Given the description of an element on the screen output the (x, y) to click on. 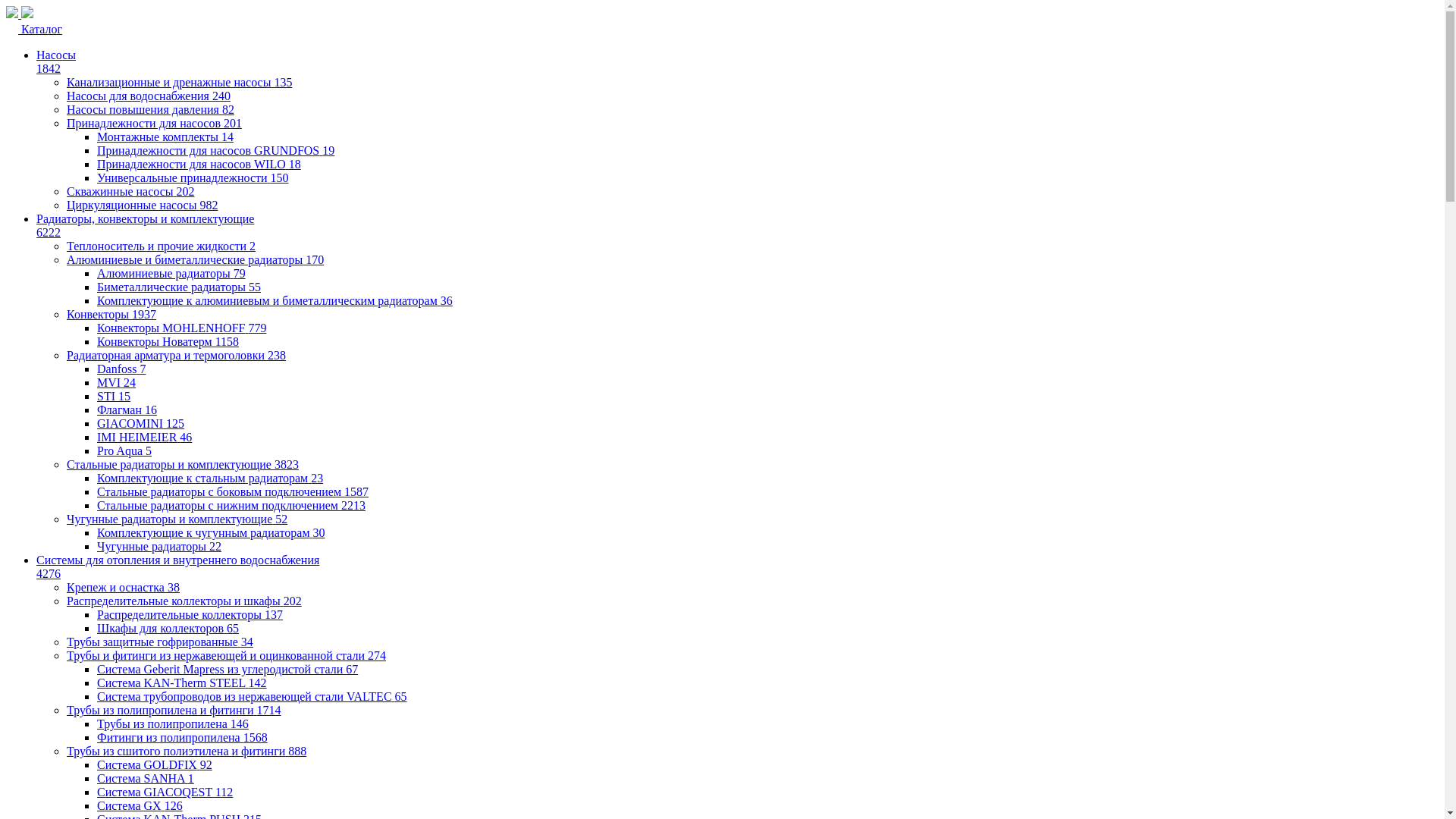
Pro Aqua 5 Element type: text (124, 450)
Danfoss 7 Element type: text (121, 368)
STI 15 Element type: text (113, 395)
MVI 24 Element type: text (116, 382)
IMI HEIMEIER 46 Element type: text (144, 436)
GIACOMINI 125 Element type: text (140, 423)
